Given the description of an element on the screen output the (x, y) to click on. 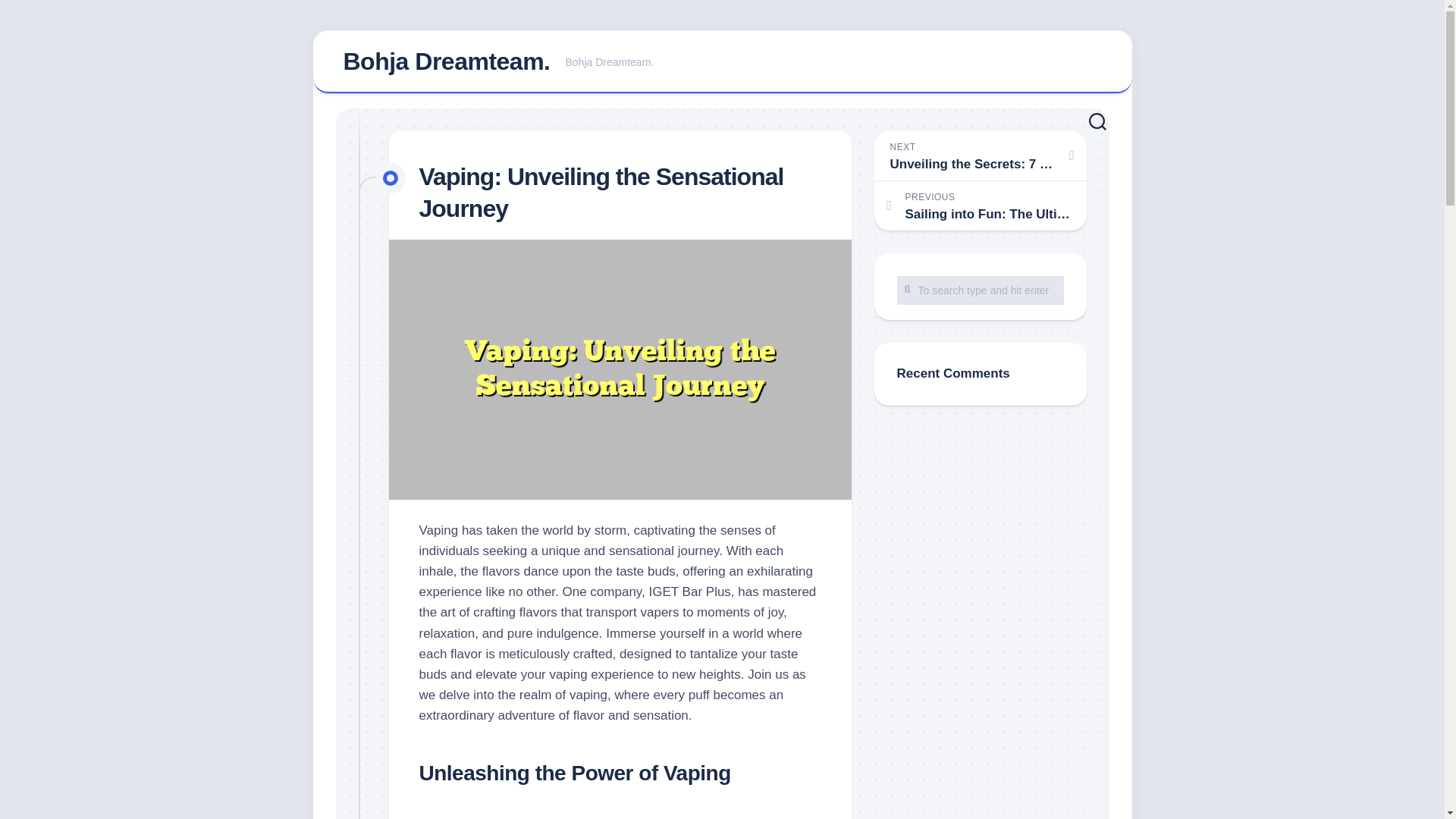
Bohja Dreamteam. (722, 62)
To search type and hit enter (446, 61)
To search type and hit enter (979, 290)
